Given the description of an element on the screen output the (x, y) to click on. 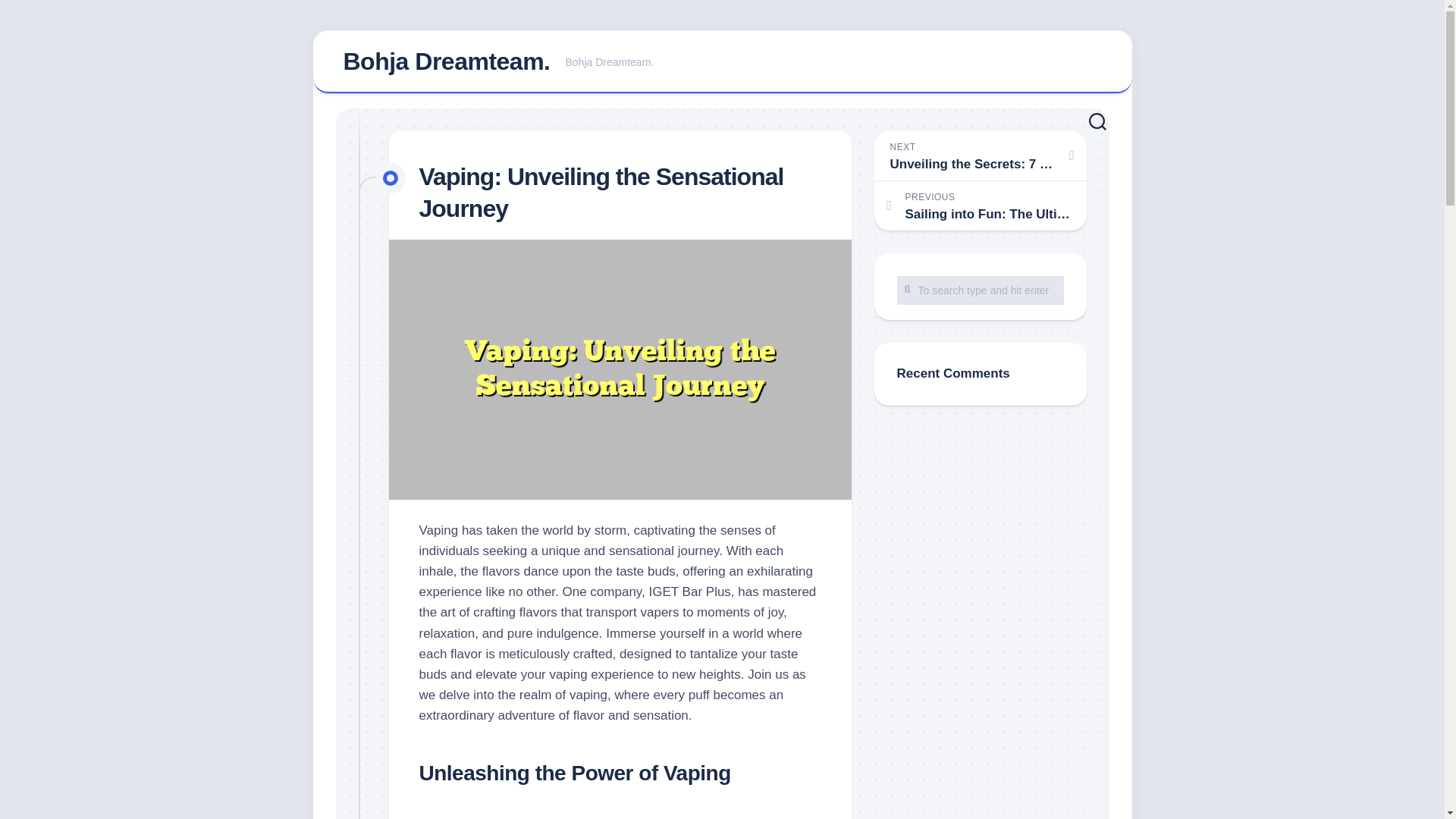
Bohja Dreamteam. (722, 62)
To search type and hit enter (446, 61)
To search type and hit enter (979, 290)
